Given the description of an element on the screen output the (x, y) to click on. 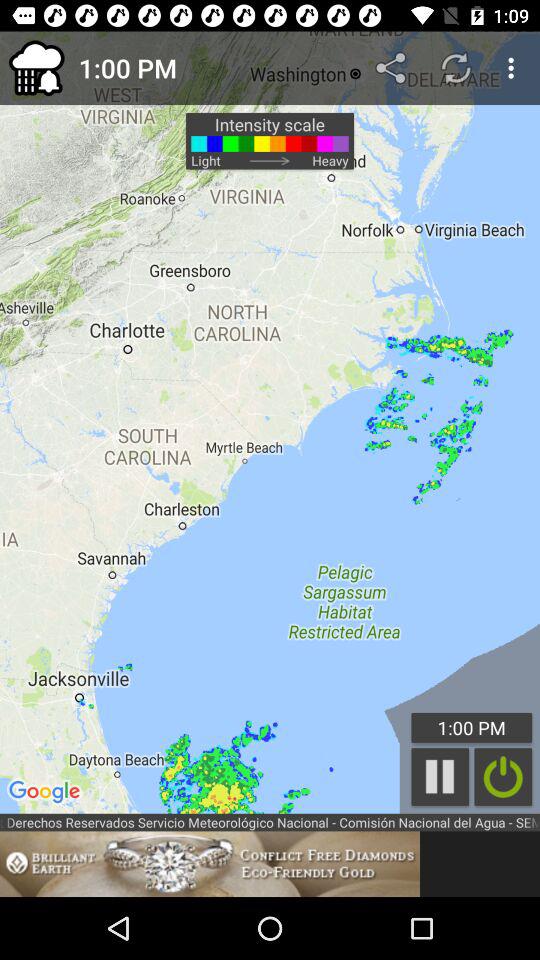
switch off (503, 776)
